Given the description of an element on the screen output the (x, y) to click on. 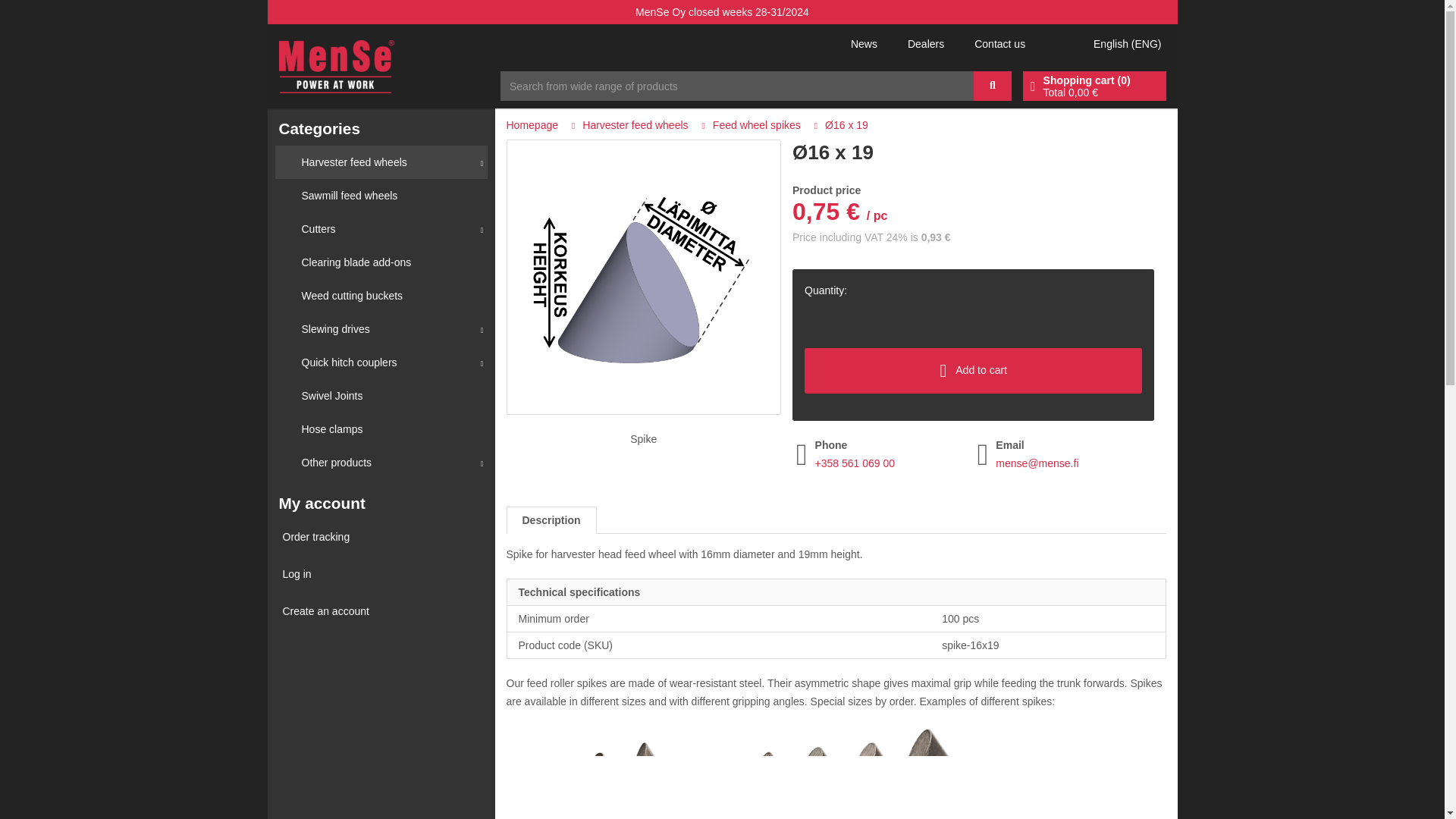
Harvester feed wheels (380, 162)
Harvester feed wheels (380, 162)
Dealers (925, 43)
News (863, 43)
Dealers (925, 43)
News (863, 43)
Change language (1126, 44)
Contact us (999, 43)
MenSe Oy (336, 65)
Search (992, 85)
Contact us (999, 43)
